Given the description of an element on the screen output the (x, y) to click on. 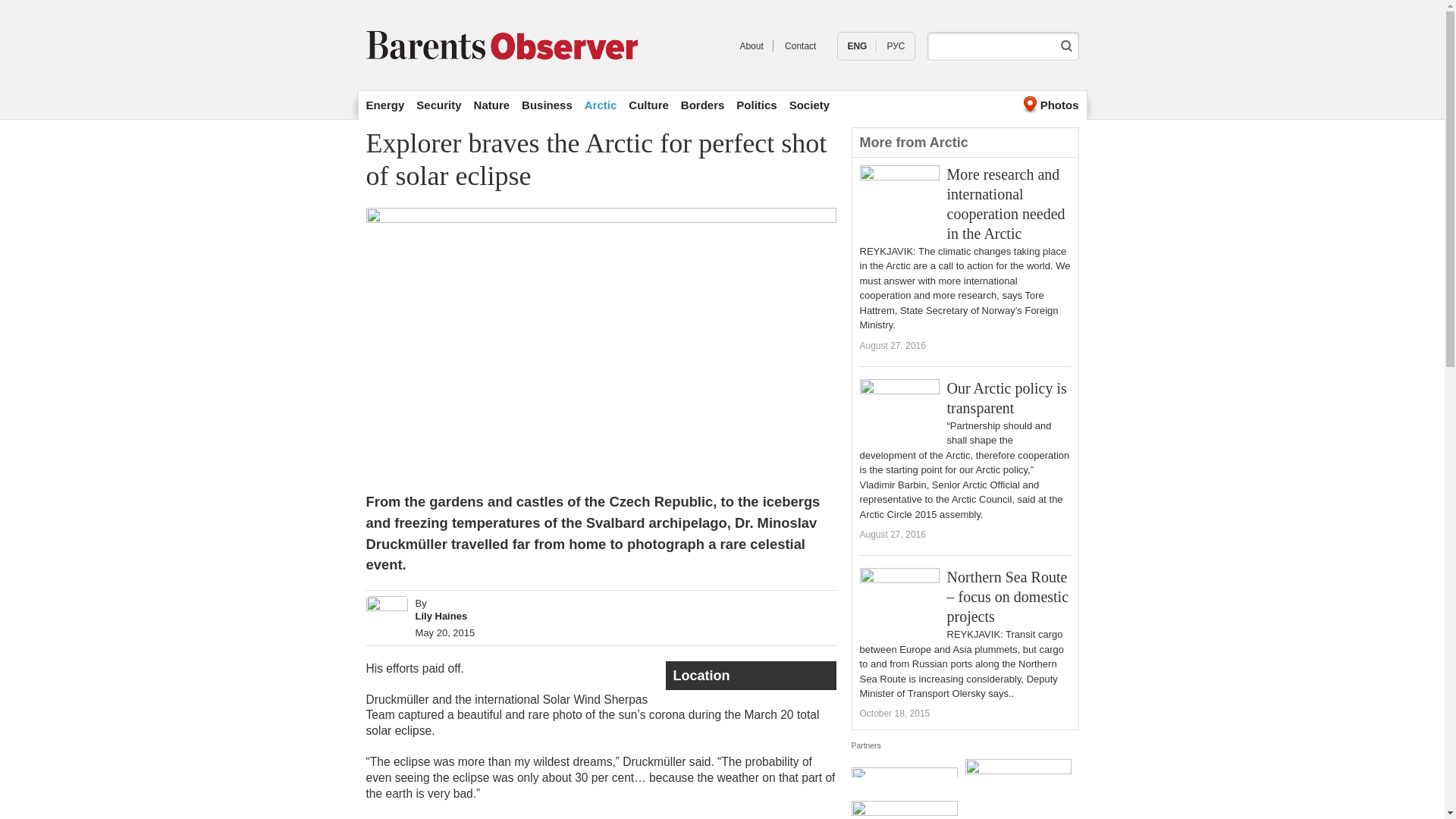
About (751, 45)
News from the Barents Region (751, 45)
Politics (756, 104)
Our Arctic policy is transparent (1005, 398)
Lily Haines (440, 615)
Arctic (601, 104)
Skip to main content (685, 1)
Security (438, 104)
Contact (800, 45)
Society (809, 104)
Search (1066, 46)
ENG (856, 45)
Explorer braves the Arctic for perfect shot of solar eclipse (856, 45)
Nature (492, 104)
Business (546, 104)
